Given the description of an element on the screen output the (x, y) to click on. 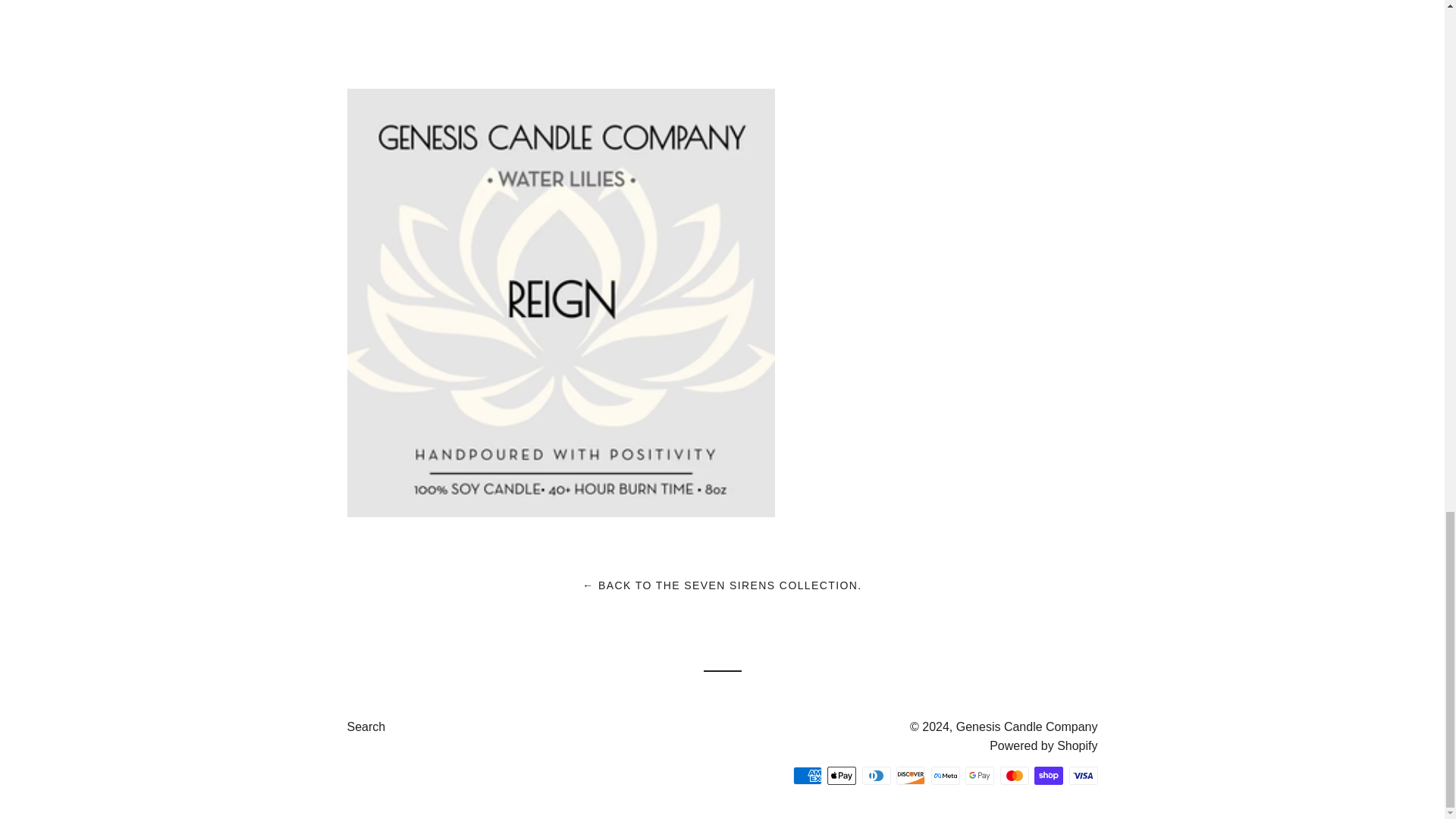
Visa (1082, 775)
Genesis Candle Company (1026, 726)
Discover (910, 775)
Shop Pay (1047, 775)
Google Pay (979, 775)
Meta Pay (945, 775)
Diners Club (875, 775)
Mastercard (1012, 775)
Powered by Shopify (1043, 745)
American Express (807, 775)
